Given the description of an element on the screen output the (x, y) to click on. 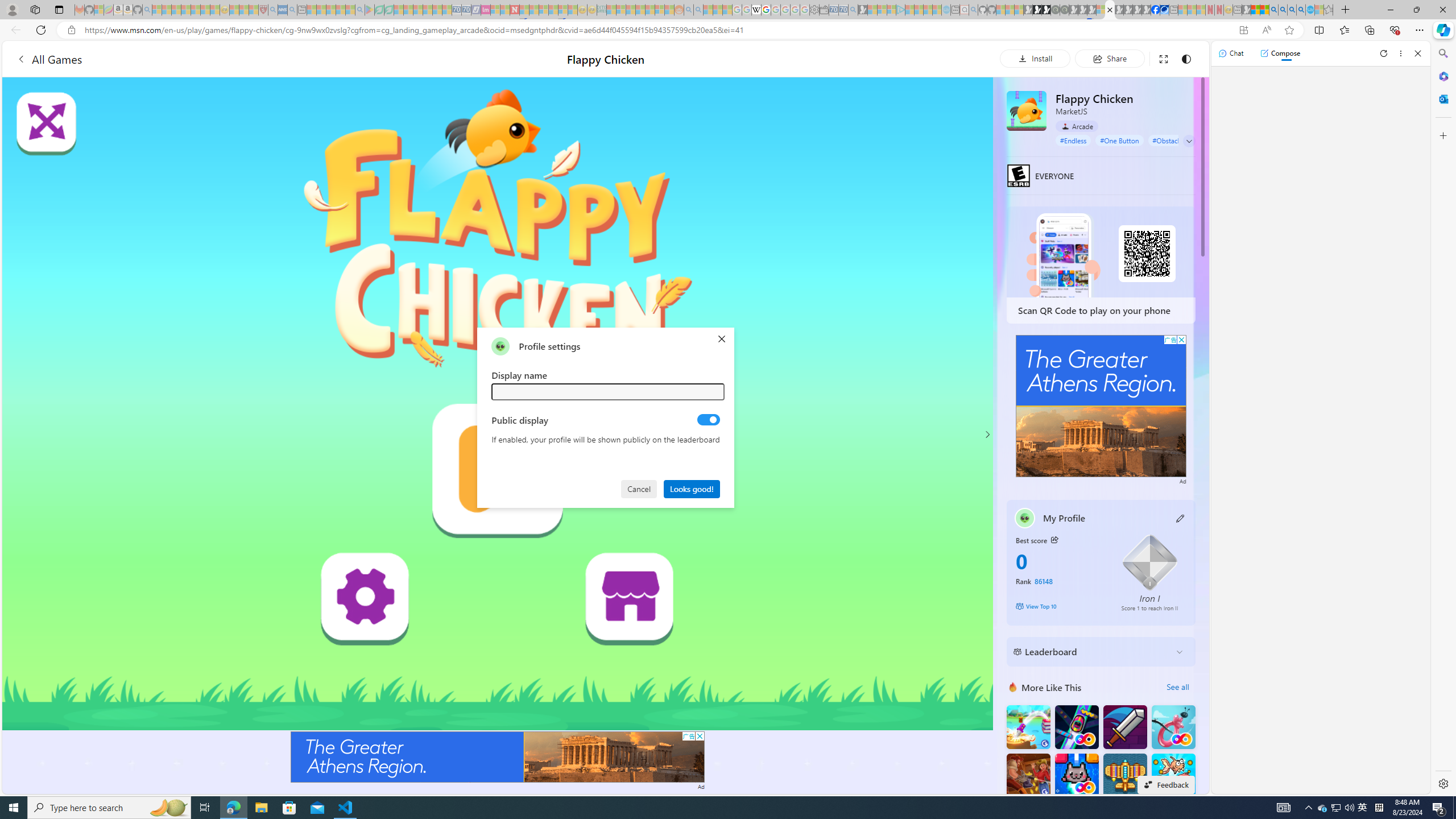
#One Button (1119, 140)
All Games (212, 58)
MSN - Sleeping (1246, 9)
EVERYONE (1018, 175)
